Given the description of an element on the screen output the (x, y) to click on. 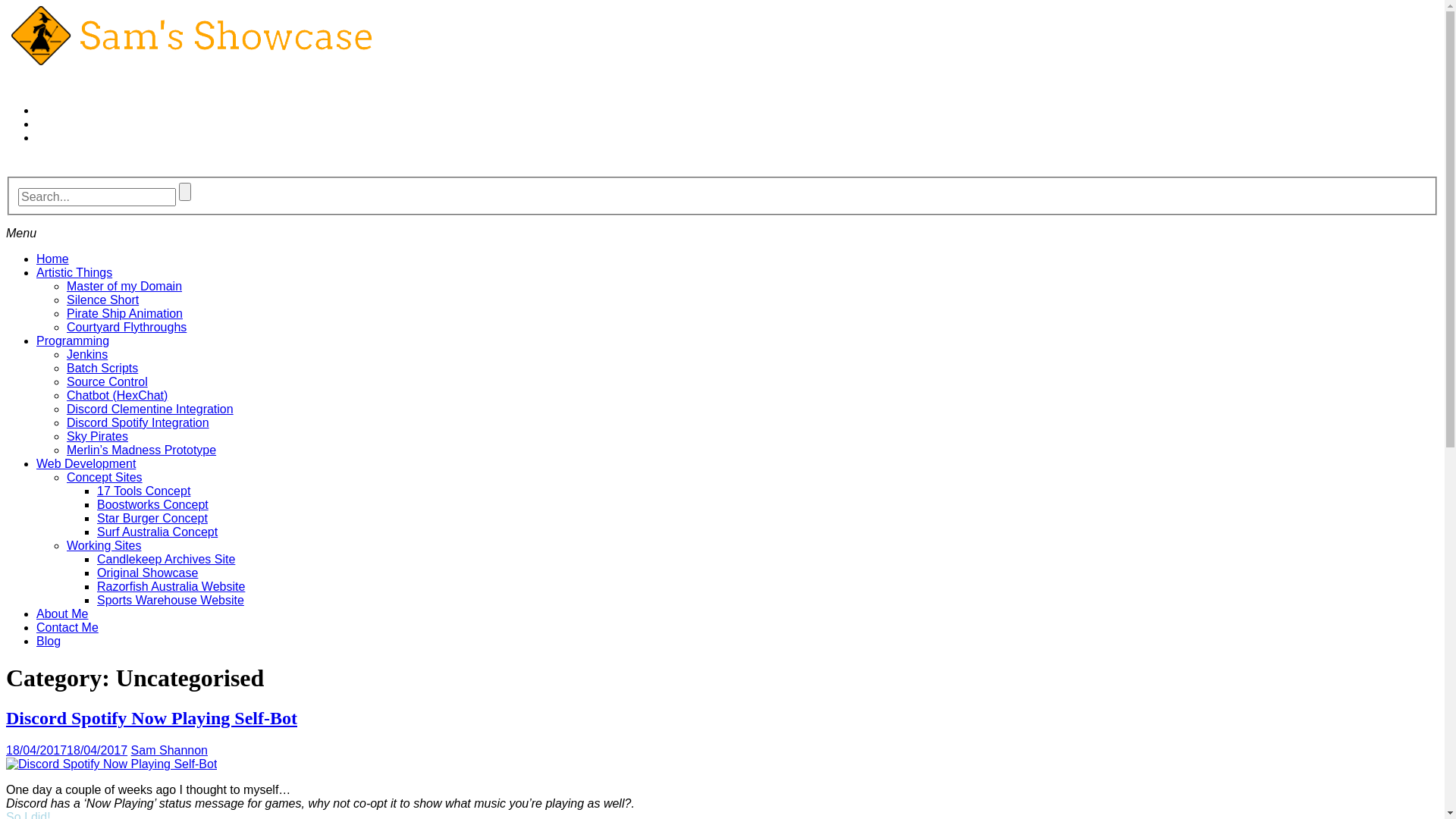
Jenkins Element type: text (86, 354)
Courtyard Flythroughs Element type: text (126, 326)
Search for: Element type: hover (96, 197)
Razorfish Australia Website Element type: text (170, 586)
17 Tools Concept Element type: text (143, 490)
Concept Sites Element type: text (104, 476)
18/04/201718/04/2017 Element type: text (66, 749)
Discord Spotify Now Playing Self-Bot Element type: text (151, 718)
Sam Shannon Element type: text (169, 749)
Working Sites Element type: text (103, 545)
Contact Me Element type: text (67, 627)
Web Development Element type: text (85, 463)
Discord Spotify Integration Element type: text (137, 422)
Surf Australia Concept Element type: text (157, 531)
Star Burger Concept Element type: text (152, 517)
Discord Clementine Integration Element type: text (149, 408)
Blog Element type: text (48, 640)
Home Element type: text (52, 258)
Skip to content Element type: text (5, 5)
Artistic Things Element type: text (74, 272)
Pirate Ship Animation Element type: text (124, 313)
About Me Element type: text (61, 613)
Candlekeep Archives Site Element type: text (166, 558)
Source Control Element type: text (106, 381)
Silence Short Element type: text (102, 299)
Original Showcase Element type: text (147, 572)
Master of my Domain Element type: text (124, 285)
Batch Scripts Element type: text (102, 367)
Boostworks Concept Element type: text (152, 504)
Chatbot (HexChat) Element type: text (116, 395)
Sports Warehouse Website Element type: text (170, 599)
Programming Element type: text (72, 340)
Sky Pirates Element type: text (97, 435)
